Given the description of an element on the screen output the (x, y) to click on. 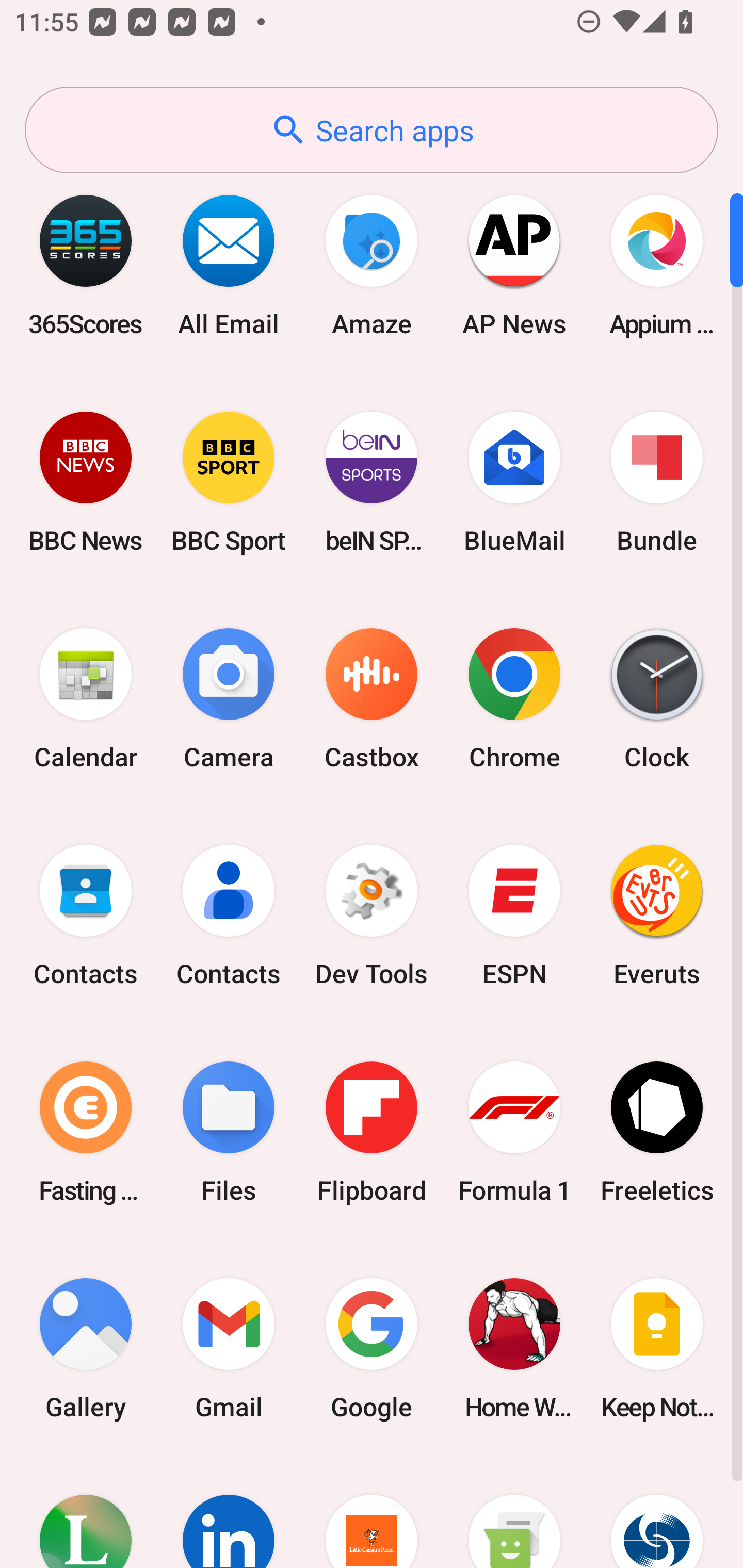
  Search apps (371, 130)
365Scores (85, 264)
All Email (228, 264)
Amaze (371, 264)
AP News (514, 264)
Appium Settings (656, 264)
BBC News (85, 482)
BBC Sport (228, 482)
beIN SPORTS (371, 482)
BlueMail (514, 482)
Bundle (656, 482)
Calendar (85, 699)
Camera (228, 699)
Castbox (371, 699)
Chrome (514, 699)
Clock (656, 699)
Contacts (85, 915)
Contacts (228, 915)
Dev Tools (371, 915)
ESPN (514, 915)
Everuts (656, 915)
Fasting Coach (85, 1131)
Files (228, 1131)
Flipboard (371, 1131)
Formula 1 (514, 1131)
Freeletics (656, 1131)
Gallery (85, 1348)
Gmail (228, 1348)
Google (371, 1348)
Home Workout (514, 1348)
Keep Notes (656, 1348)
